Given the description of an element on the screen output the (x, y) to click on. 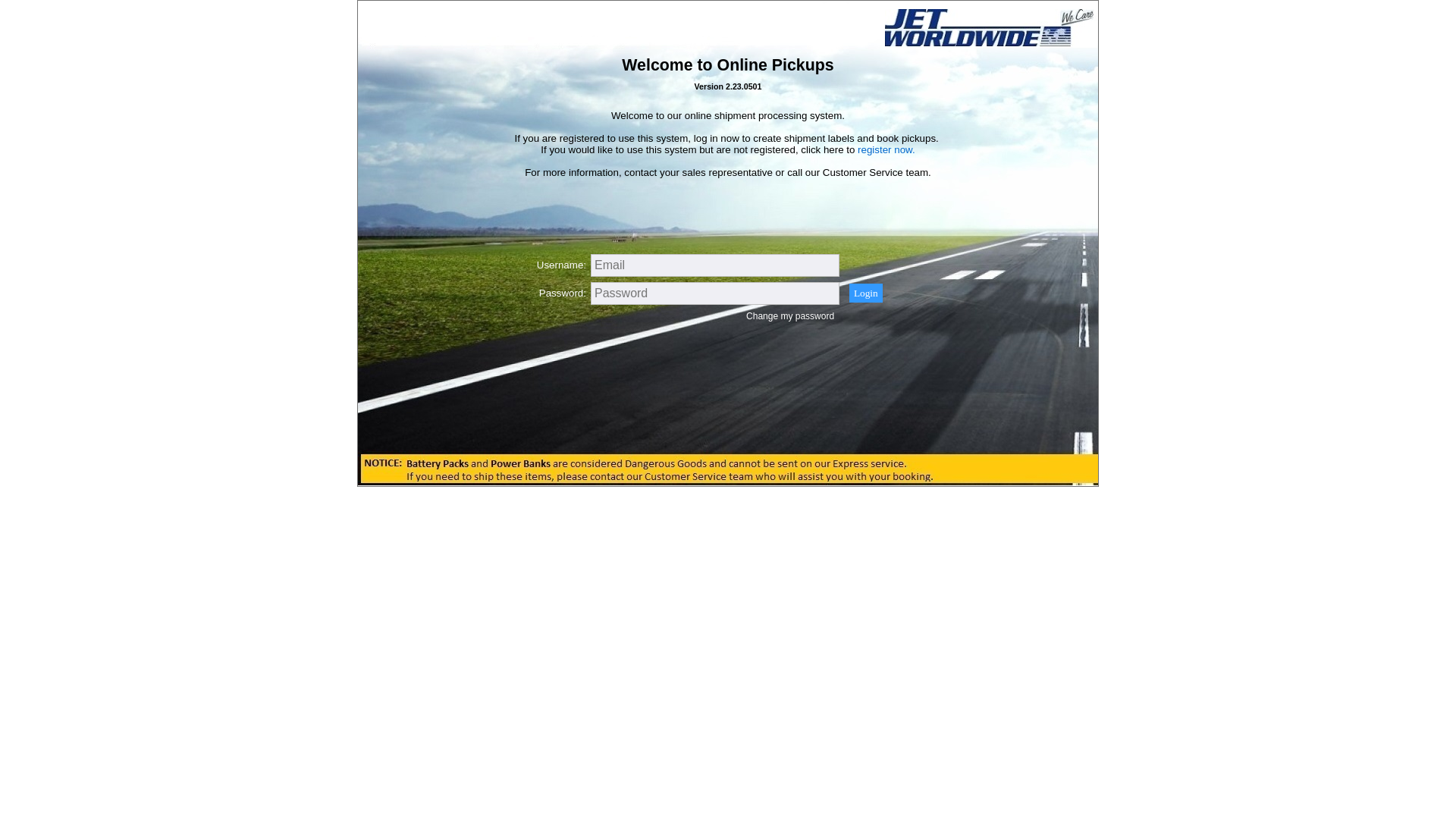
register now. Element type: text (886, 149)
Change my password Element type: text (790, 315)
Login Element type: text (865, 292)
